Given the description of an element on the screen output the (x, y) to click on. 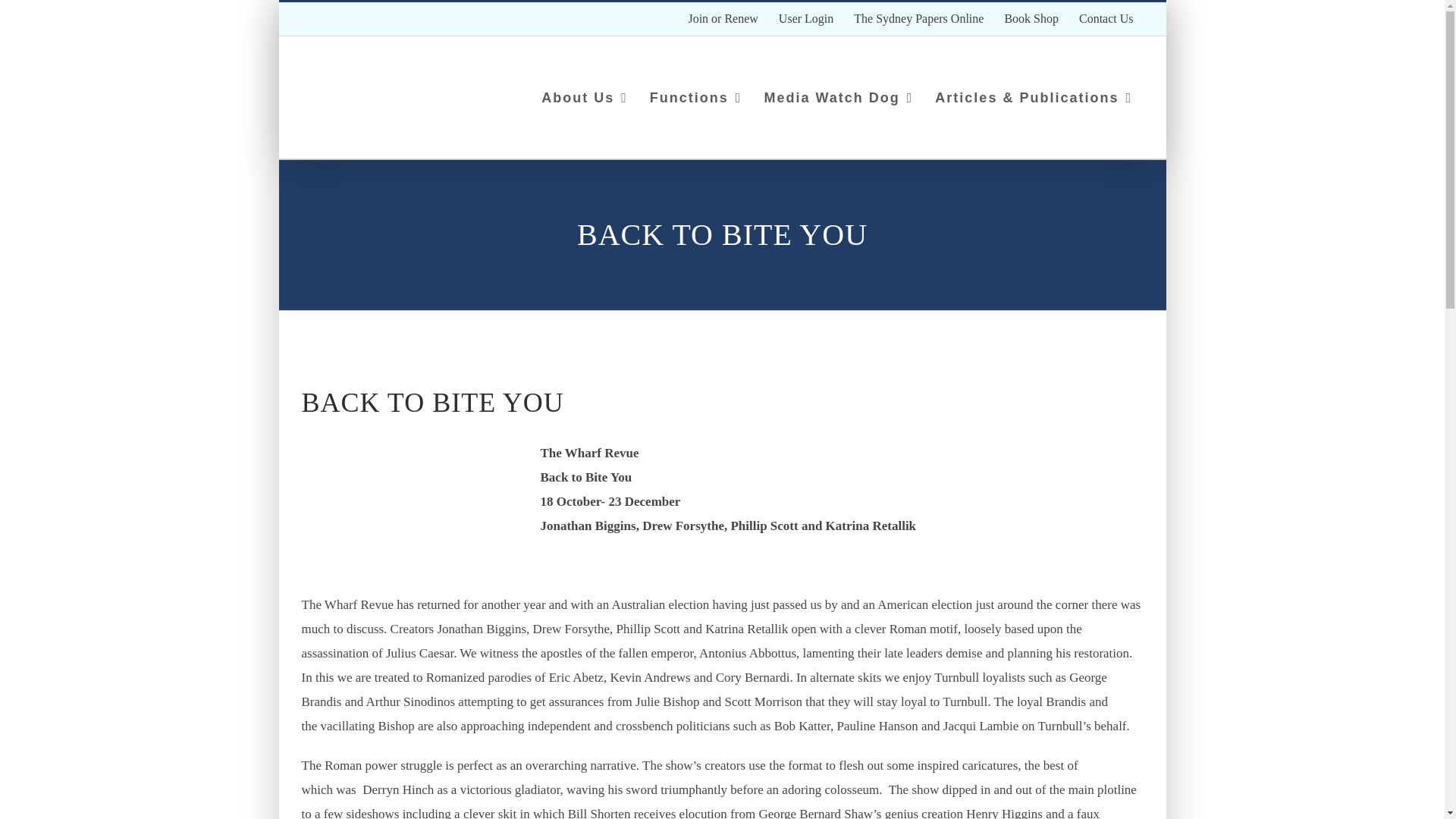
Book Shop (1031, 19)
Functions (695, 97)
Contact Us (1105, 19)
The Sydney Papers Online (918, 19)
User Login (805, 19)
Join or Renew (722, 19)
Media Watch Dog (838, 97)
